Given the description of an element on the screen output the (x, y) to click on. 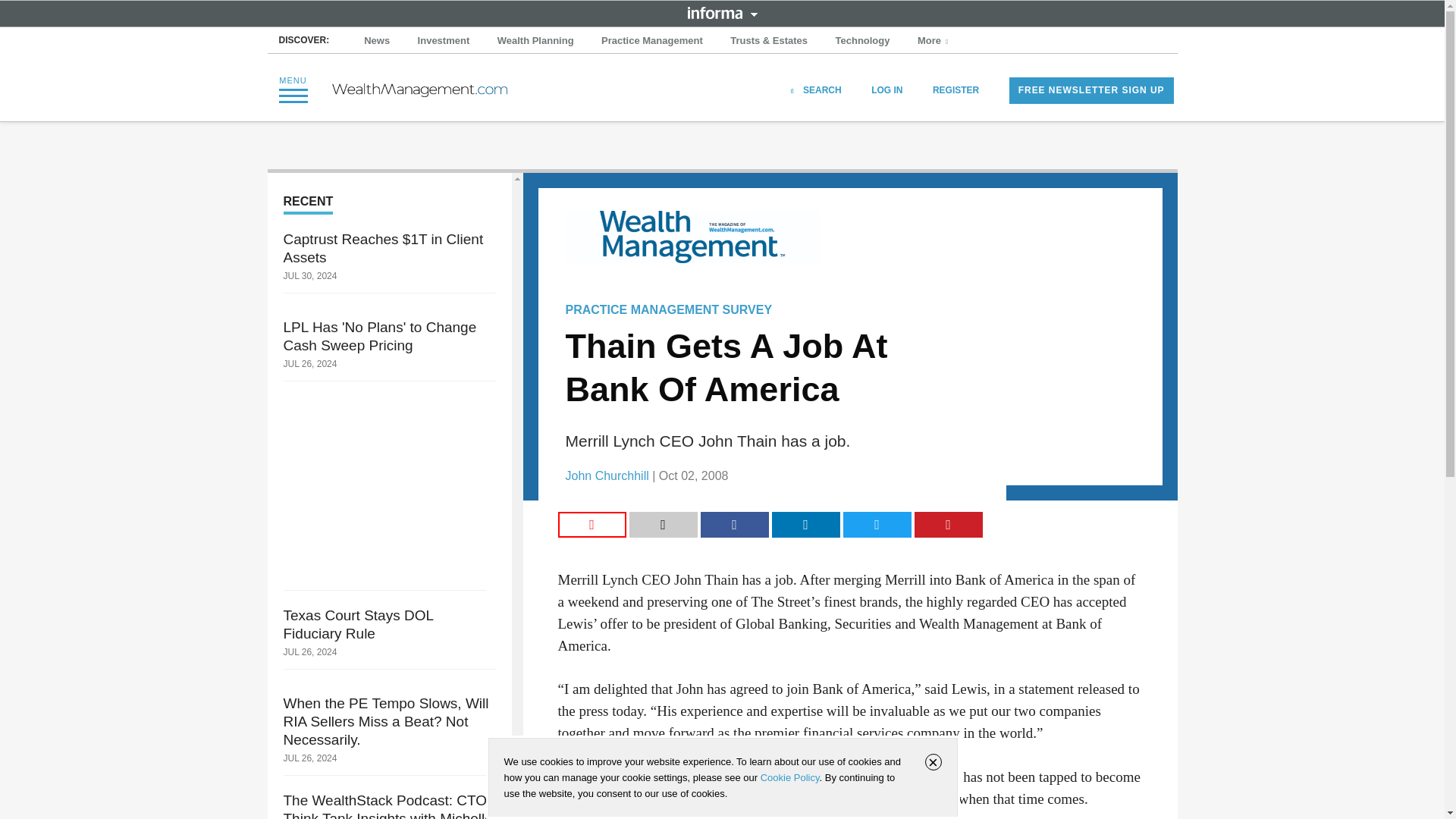
Investment (444, 41)
Wealth Planning (535, 41)
More (934, 41)
Cookie Policy (789, 777)
Technology (862, 41)
Practice Management (652, 41)
News (377, 41)
INFORMA (722, 12)
